Given the description of an element on the screen output the (x, y) to click on. 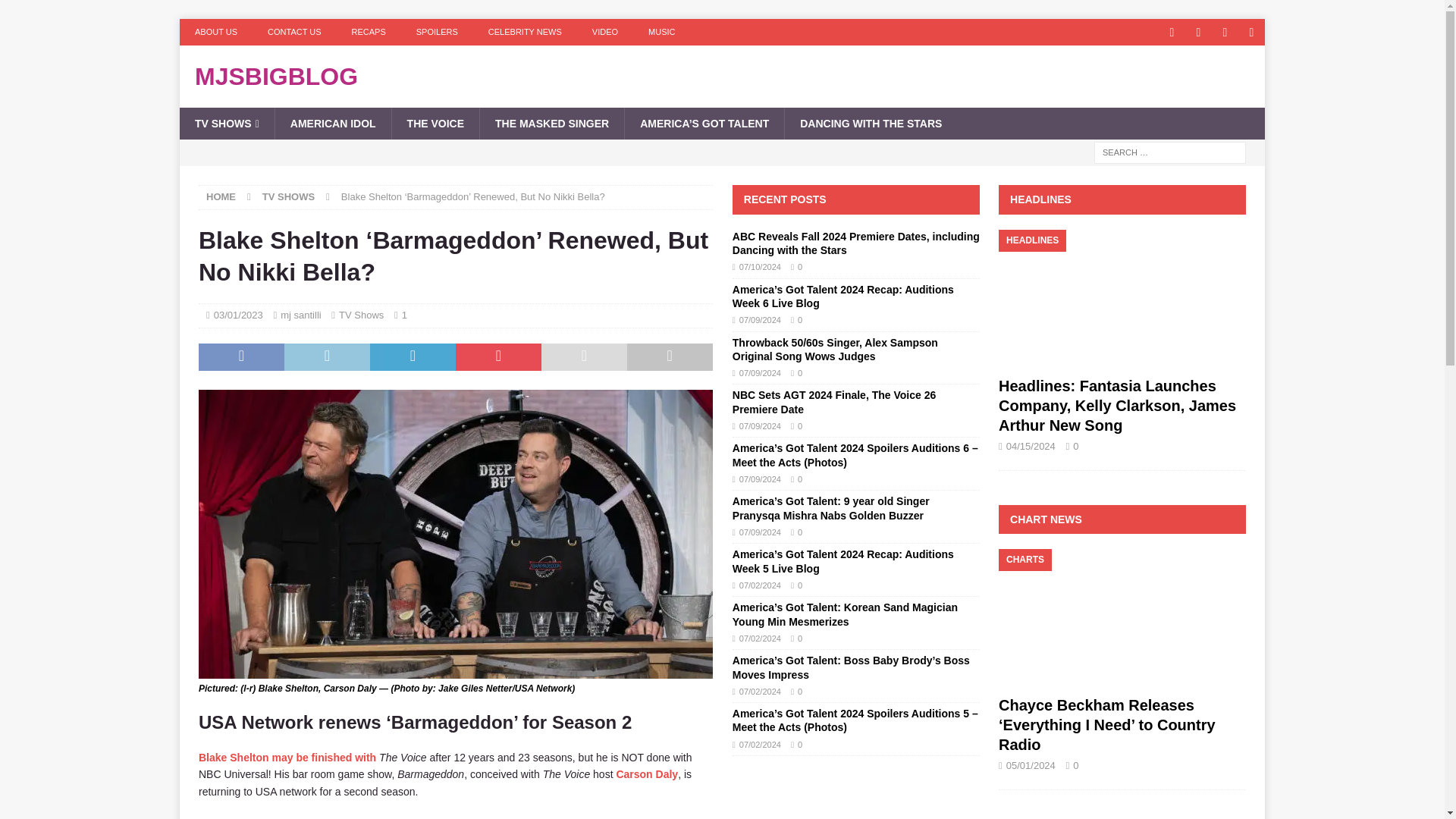
mj santilli (300, 315)
mjsbigblog (722, 76)
MJSBIGBLOG (722, 76)
ABOUT US (215, 31)
AMERICAN IDOL (333, 123)
DANCING WITH THE STARS (870, 123)
VIDEO (604, 31)
TV Shows (361, 315)
TV SHOWS (227, 123)
Search (56, 11)
THE MASKED SINGER (551, 123)
CONTACT US (293, 31)
SPOILERS (437, 31)
THE VOICE (435, 123)
